Given the description of an element on the screen output the (x, y) to click on. 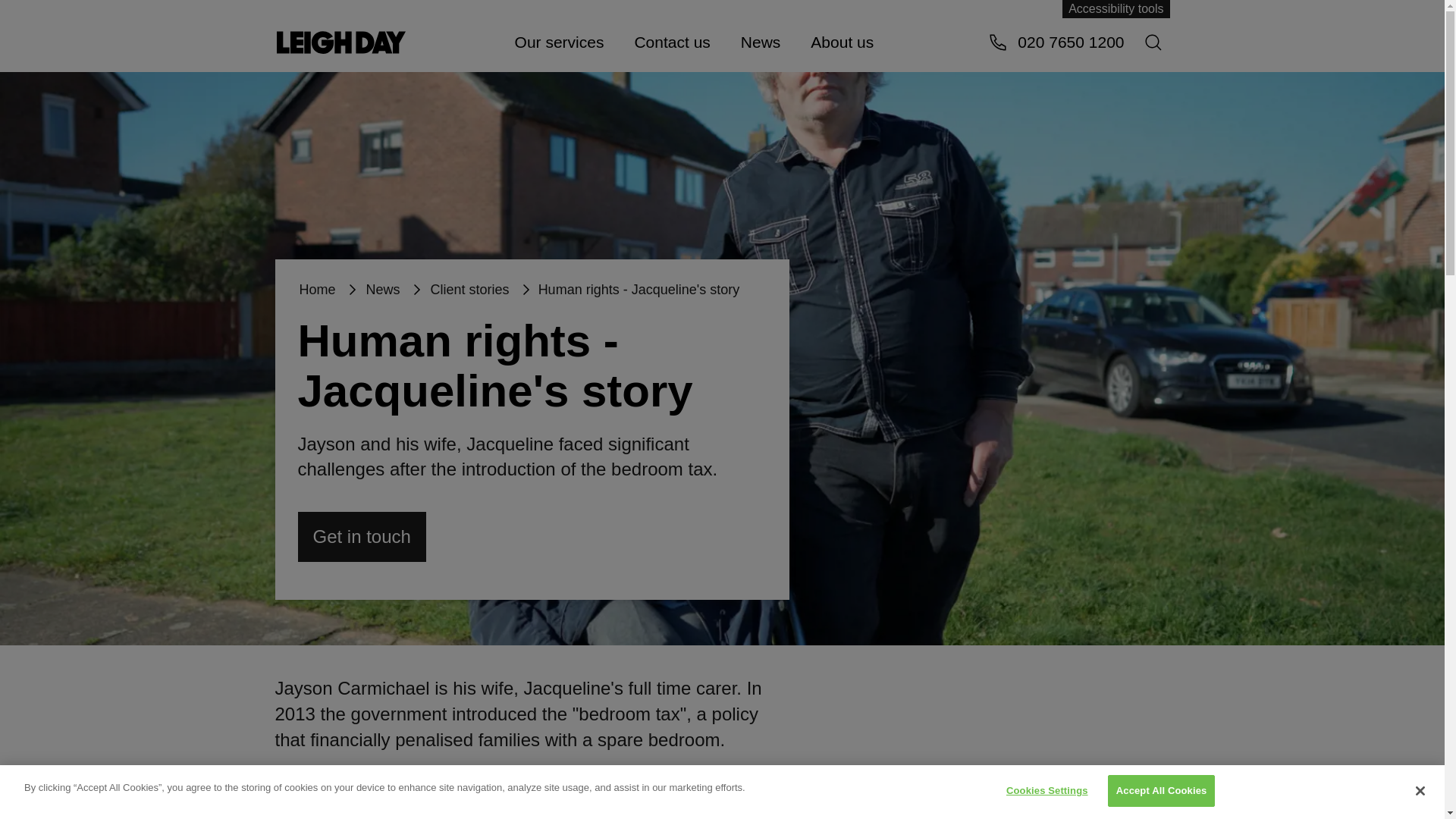
Accessibility tools (1115, 9)
Our services (558, 41)
Accessibility tools (1115, 9)
